Given the description of an element on the screen output the (x, y) to click on. 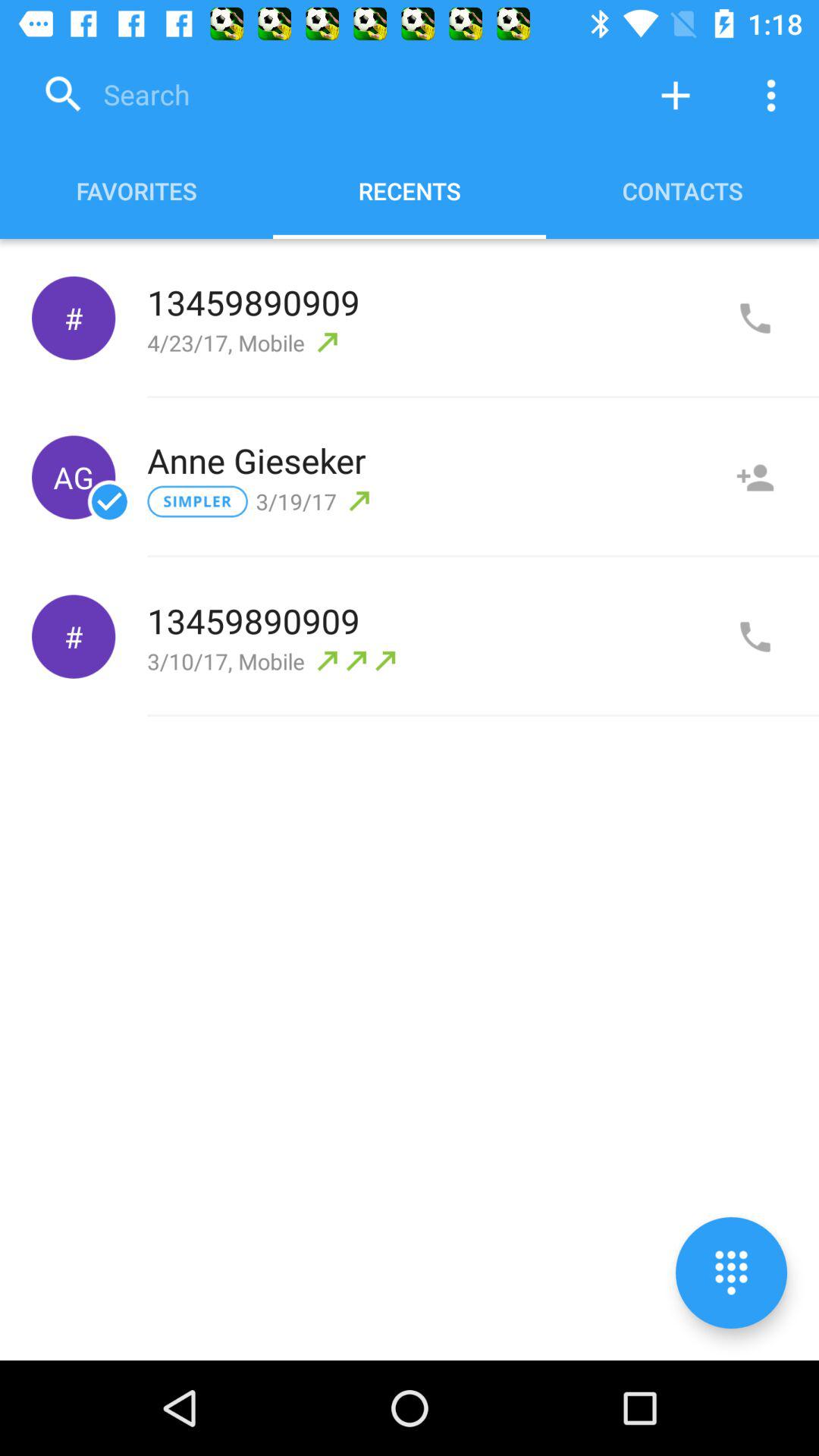
toggle numberpad (731, 1272)
